Given the description of an element on the screen output the (x, y) to click on. 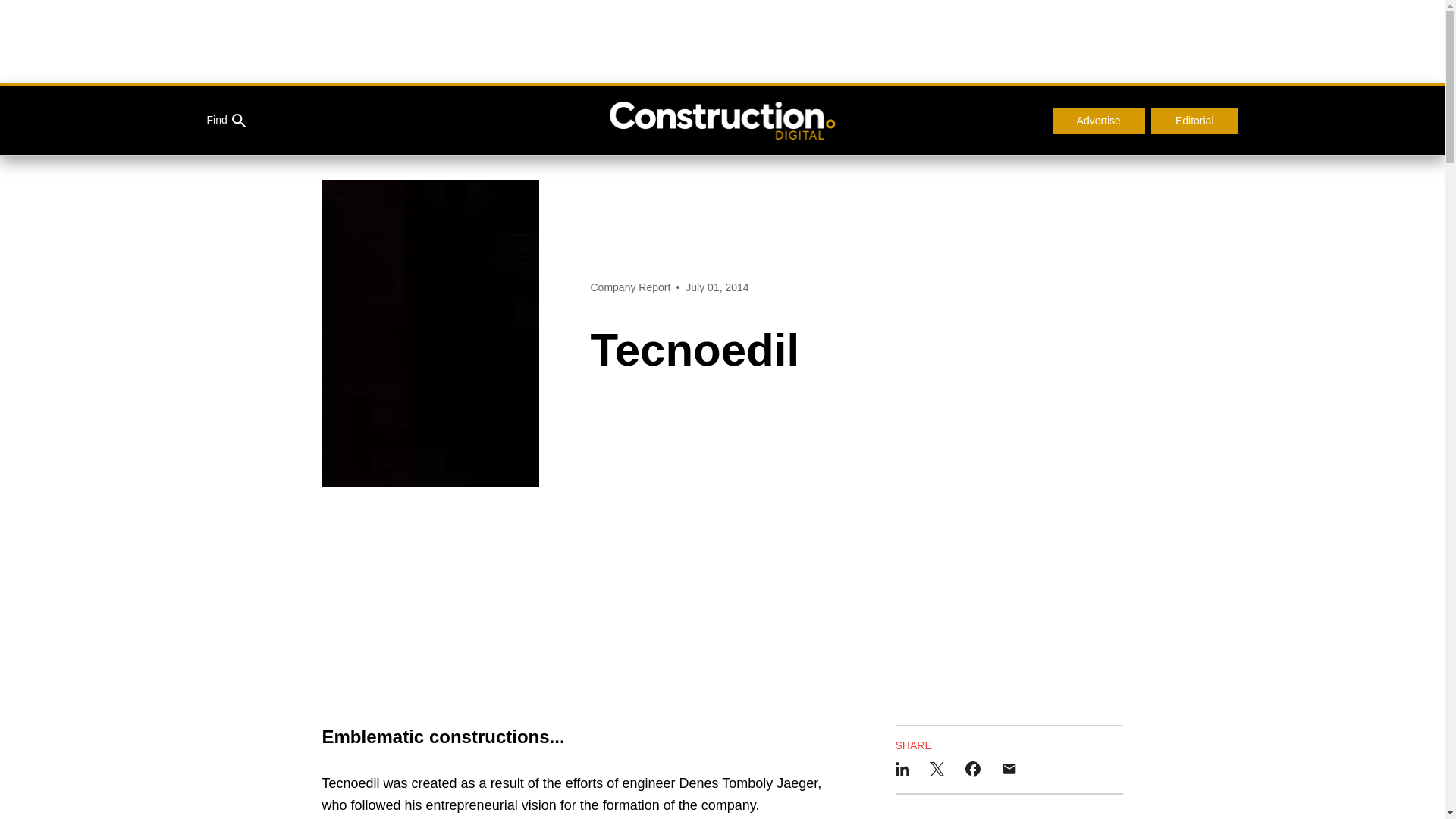
Find (225, 120)
Advertise (1098, 121)
Editorial (1195, 121)
